Given the description of an element on the screen output the (x, y) to click on. 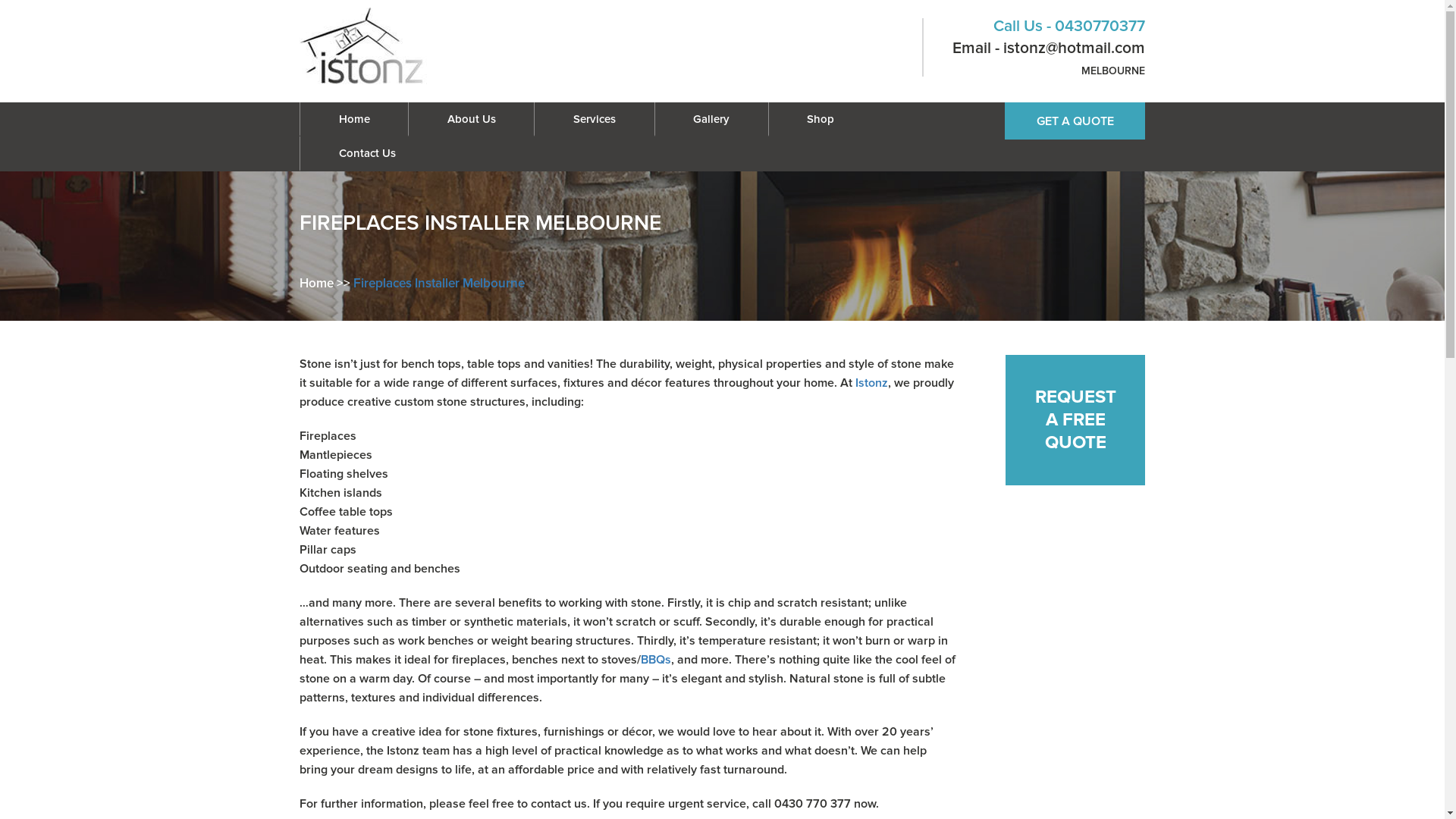
Services Element type: text (593, 118)
0430770377 Element type: text (1098, 25)
Shop Element type: text (820, 118)
Istonz Element type: text (871, 382)
Home Element type: text (353, 118)
istonz@hotmail.com Element type: text (1072, 47)
Home Element type: text (316, 283)
About Us Element type: text (470, 118)
Gallery Element type: text (711, 118)
Contact Us Element type: text (366, 152)
BBQs Element type: text (655, 659)
GET A QUOTE Element type: text (1074, 120)
REQUEST A FREE QUOTE Element type: text (1075, 419)
